Given the description of an element on the screen output the (x, y) to click on. 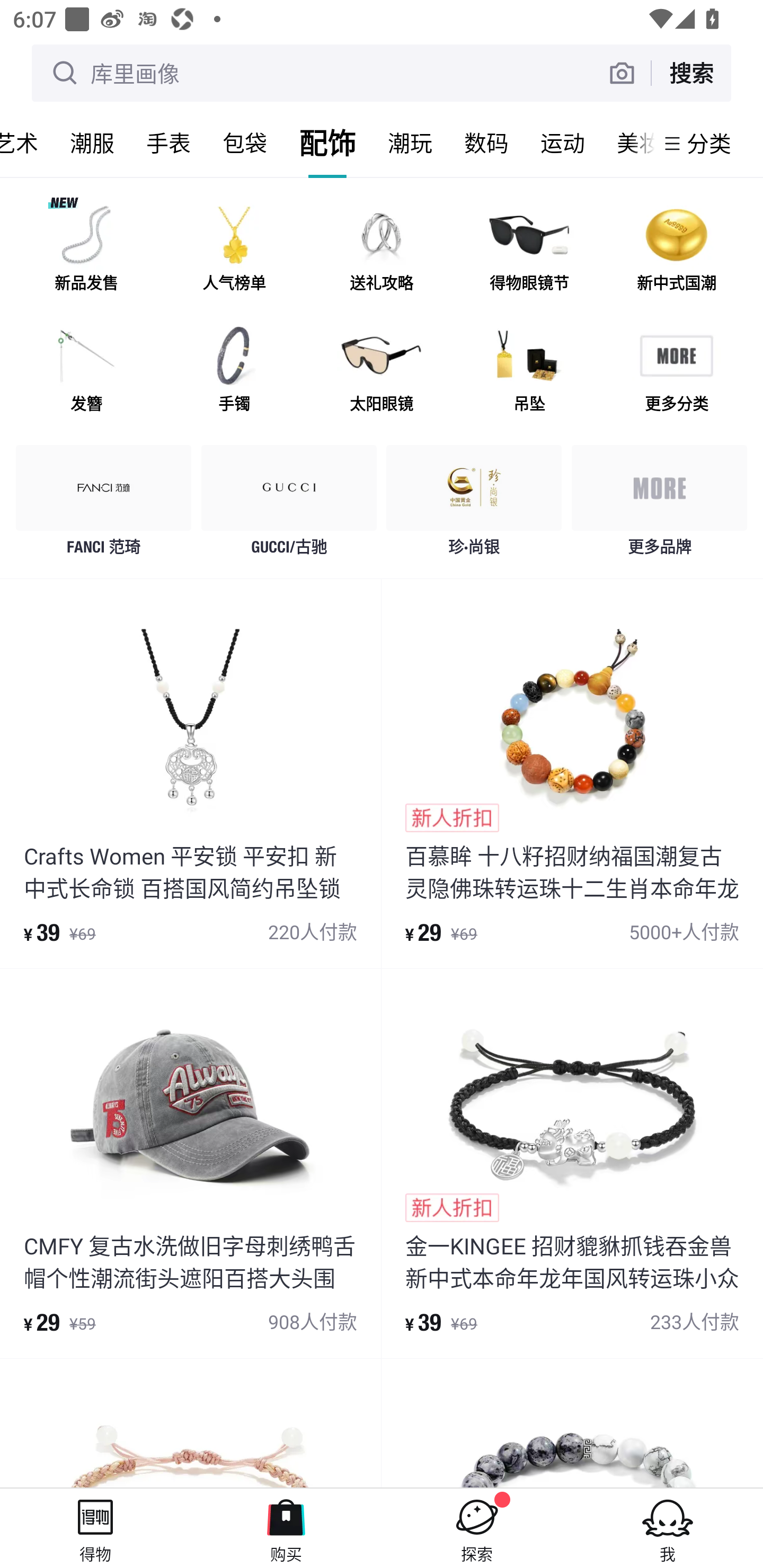
搜索 (690, 72)
艺术 (27, 143)
潮服 (92, 143)
手表 (168, 143)
包袋 (244, 143)
配饰 (327, 143)
潮玩 (410, 143)
数码 (486, 143)
运动 (562, 143)
美妆 (627, 143)
分类 (708, 143)
新品发售 (86, 251)
人气榜单 (233, 251)
送礼攻略 (381, 251)
得物眼镜节 (528, 251)
新中式国潮 (676, 251)
发簪 (86, 372)
手镯 (233, 372)
太阳眼镜 (381, 372)
吊坠 (528, 372)
更多分类 (676, 372)
FANCI 范琦 (103, 505)
GUCCI/古驰 (288, 505)
珍·尚银 (473, 505)
更多品牌 (658, 505)
得物 (95, 1528)
购买 (285, 1528)
探索 (476, 1528)
我 (667, 1528)
